Given the description of an element on the screen output the (x, y) to click on. 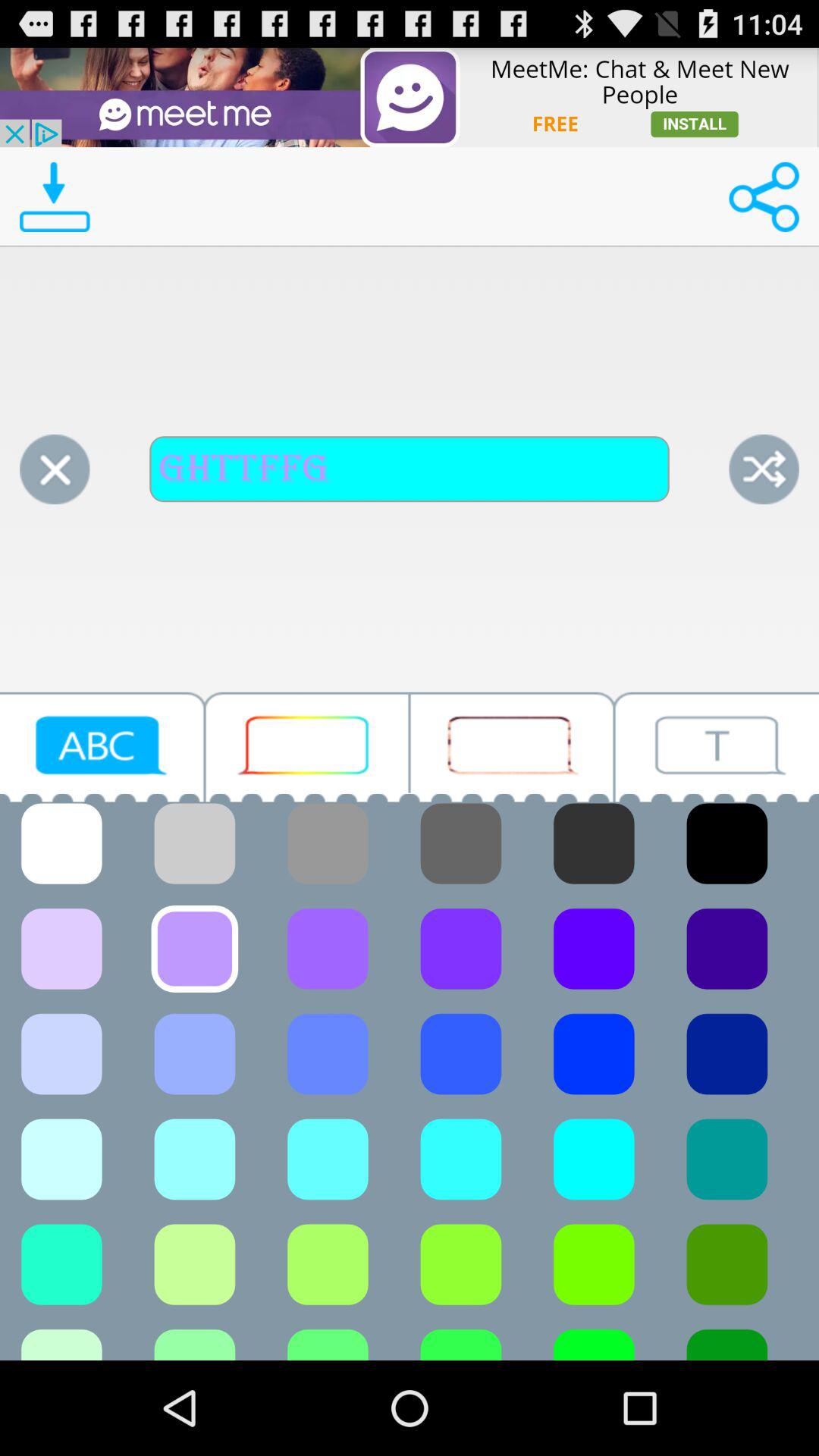
share option (764, 197)
